Given the description of an element on the screen output the (x, y) to click on. 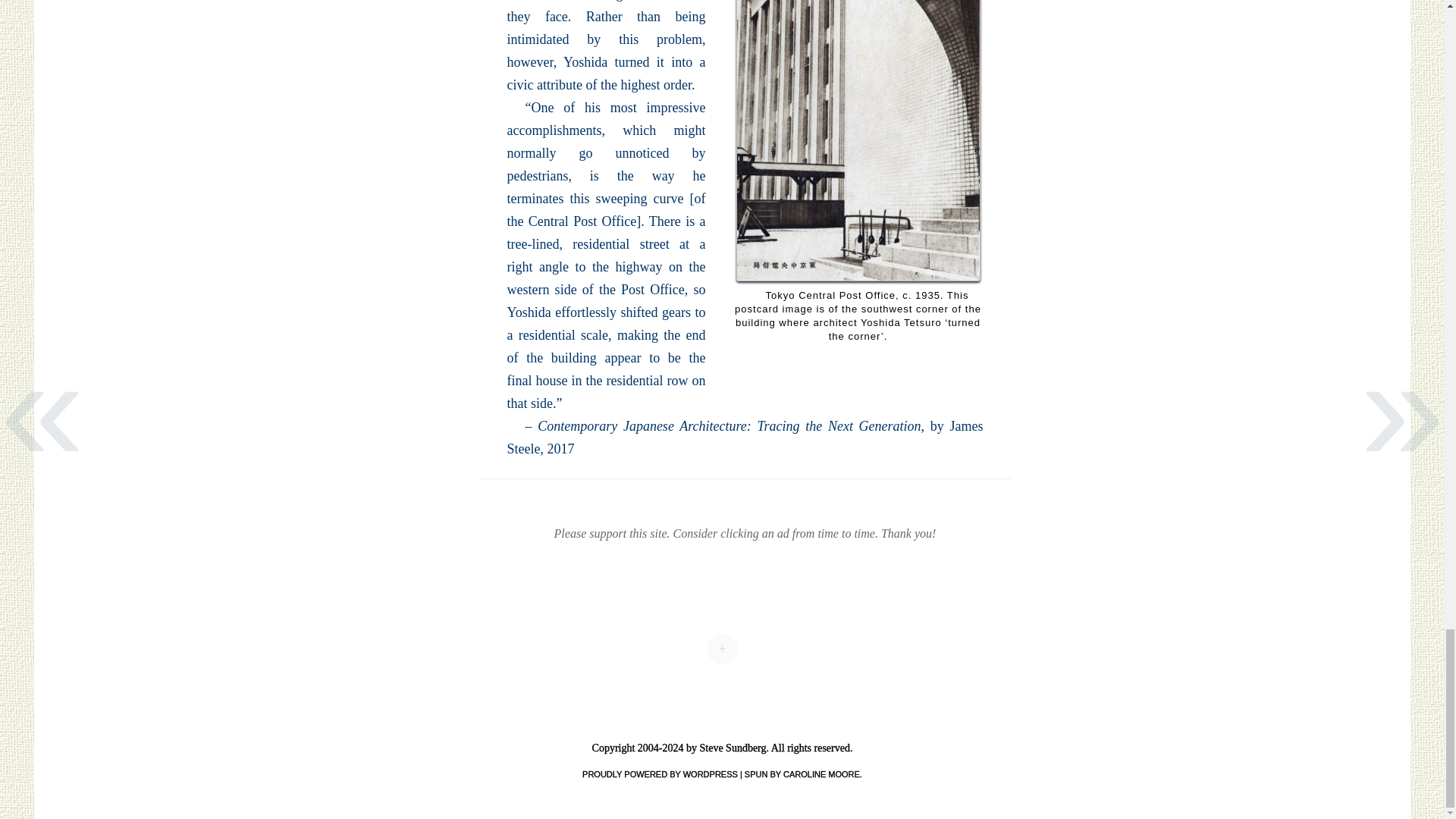
Tokyo Central Post Office, c. 1935. (857, 140)
A Semantic Personal Publishing Platform (660, 773)
